Given the description of an element on the screen output the (x, y) to click on. 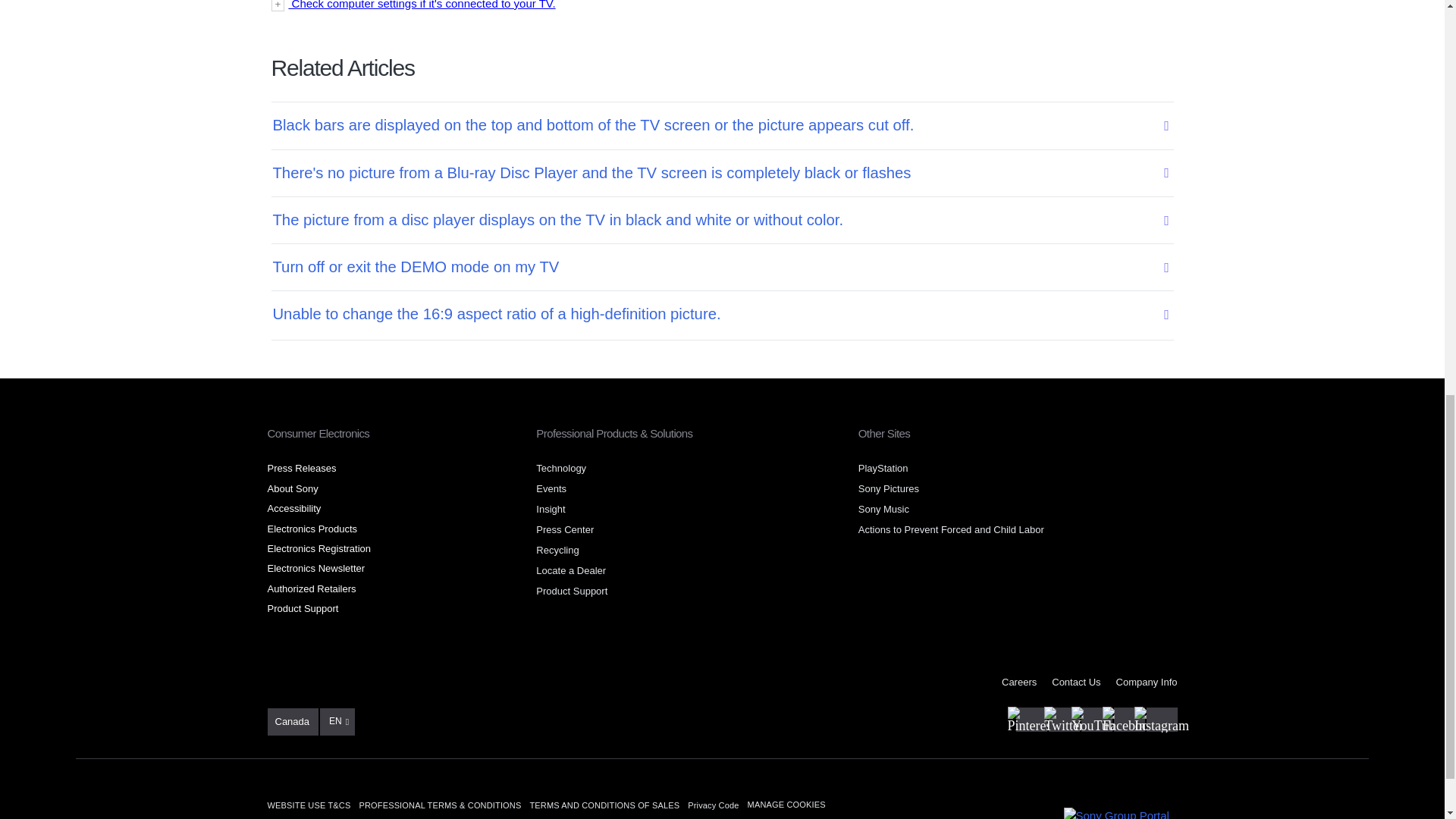
expand (721, 6)
